Given the description of an element on the screen output the (x, y) to click on. 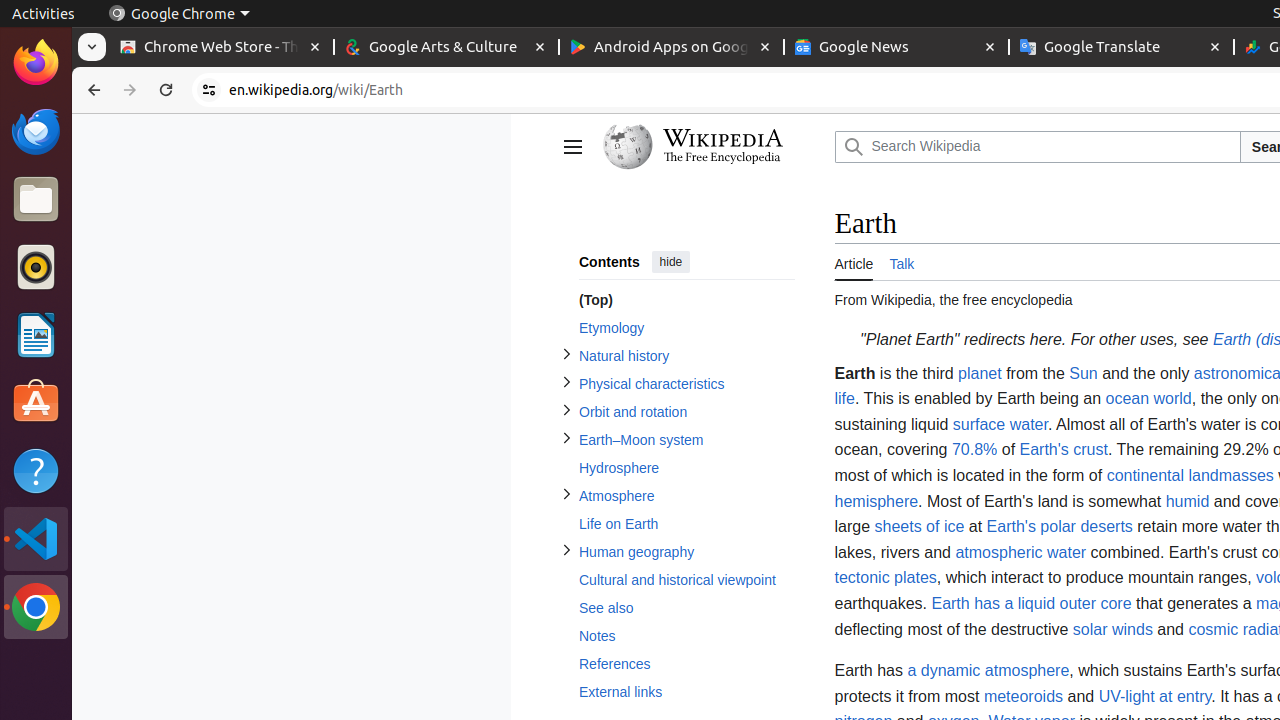
Rhythmbox Element type: push-button (36, 267)
Reload Element type: push-button (166, 90)
a dynamic atmosphere Element type: link (988, 671)
Article Element type: link (854, 262)
Cultural and historical viewpoint Element type: link (686, 580)
